Given the description of an element on the screen output the (x, y) to click on. 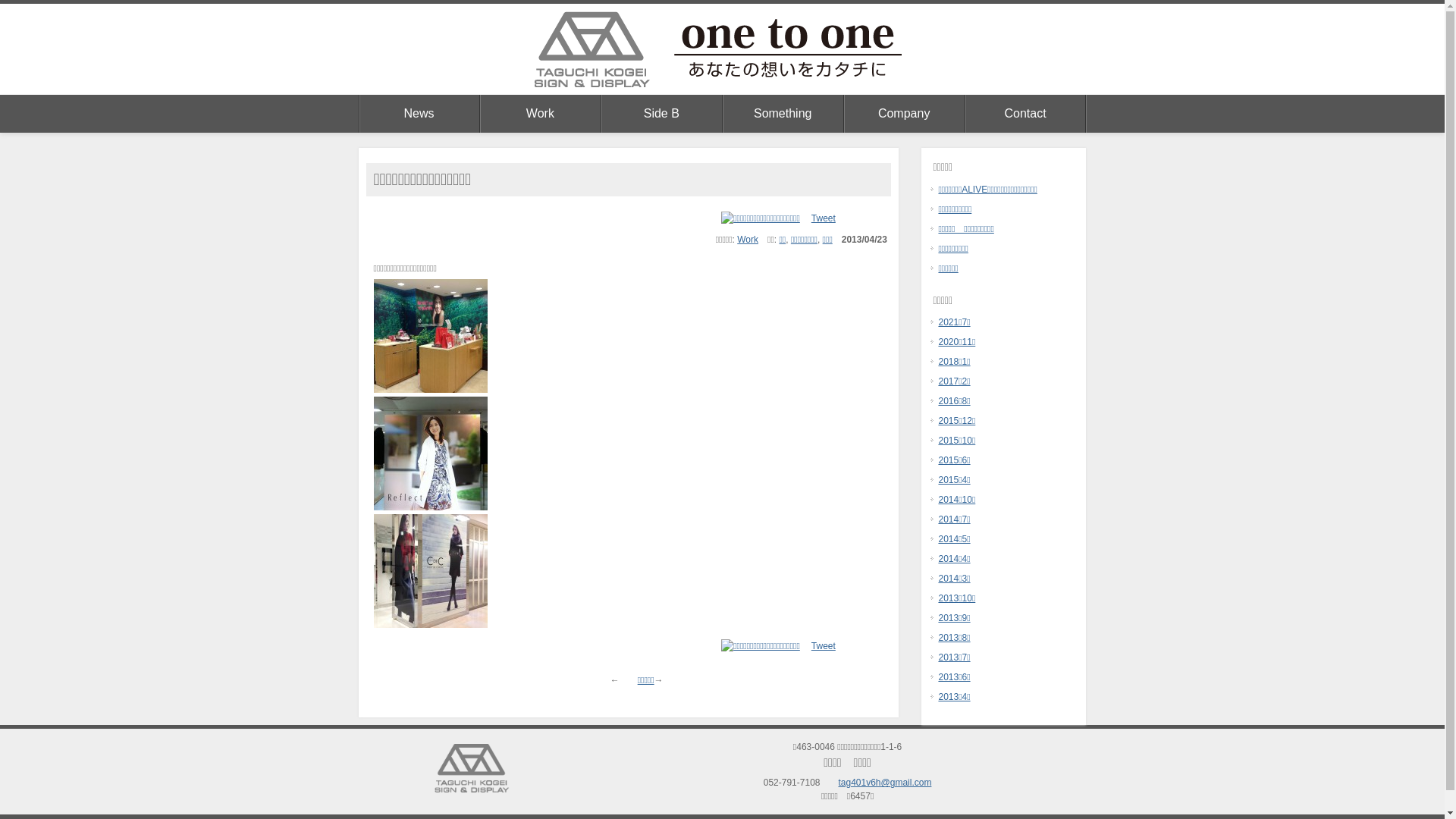
Work Element type: text (747, 239)
News Element type: text (418, 112)
Tweet Element type: text (823, 645)
Work Element type: text (540, 112)
Contact Element type: text (1024, 112)
Company Element type: text (903, 112)
Something Element type: text (782, 112)
Side B Element type: text (661, 112)
Tweet Element type: text (823, 218)
tag401v6h@gmail.com Element type: text (884, 782)
